Given the description of an element on the screen output the (x, y) to click on. 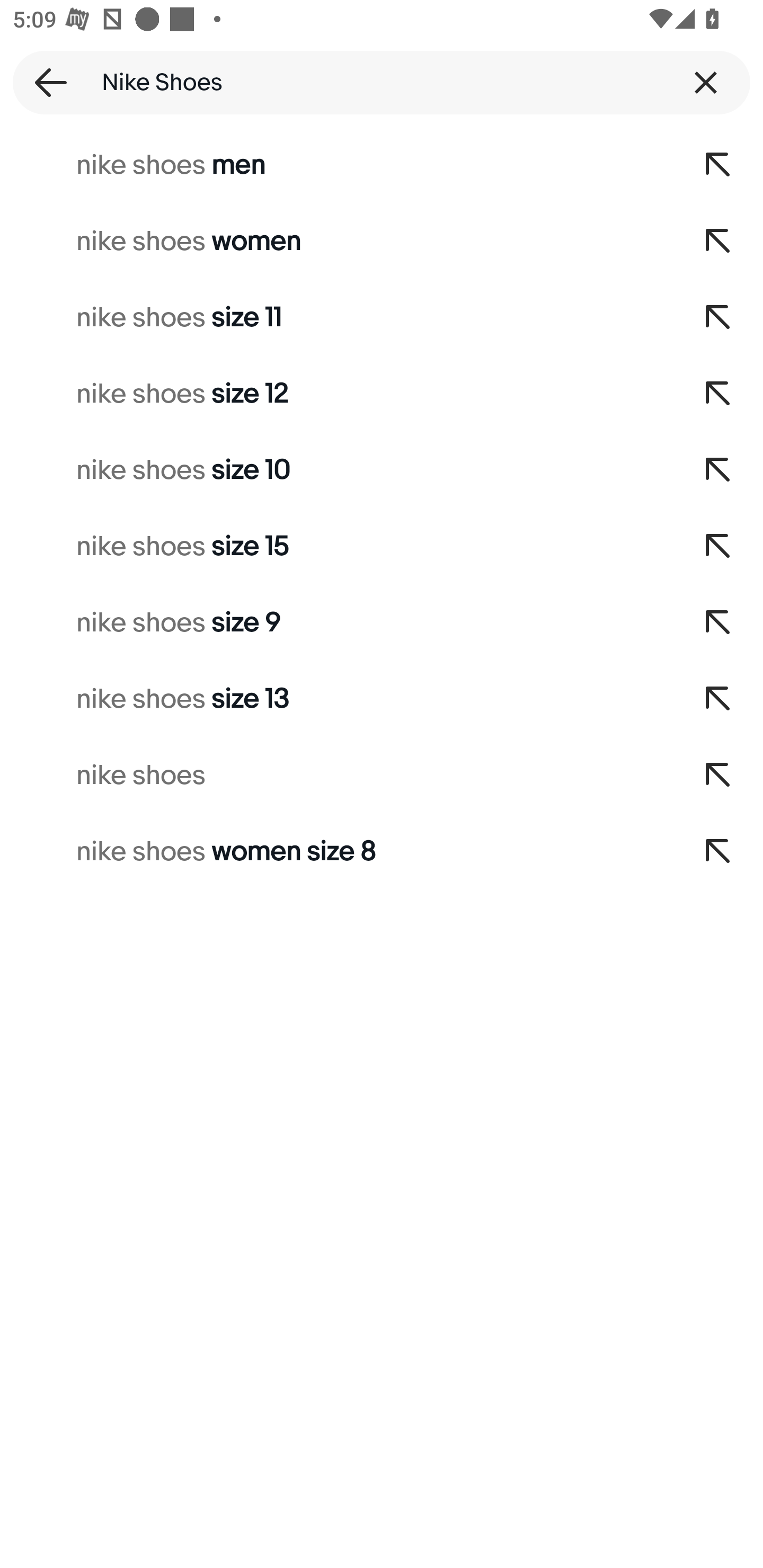
Back (44, 82)
Clear query (705, 82)
Nike Shoes (381, 82)
nike shoes men (336, 165)
Add to search query,nike shoes men (718, 165)
nike shoes women (336, 241)
Add to search query,nike shoes women (718, 241)
nike shoes size 11 (336, 317)
Add to search query,nike shoes size 11 (718, 317)
nike shoes size 12 (336, 393)
Add to search query,nike shoes size 12 (718, 393)
nike shoes size 10 (336, 470)
Add to search query,nike shoes size 10 (718, 470)
nike shoes size 15 (336, 546)
Add to search query,nike shoes size 15 (718, 546)
nike shoes size 9 (336, 622)
Add to search query,nike shoes size 9 (718, 622)
nike shoes size 13 (336, 698)
Add to search query,nike shoes size 13 (718, 698)
nike shoes (336, 774)
Add to search query,nike shoes (718, 774)
nike shoes women size 8 (336, 851)
Add to search query,nike shoes women size 8 (718, 851)
